Given the description of an element on the screen output the (x, y) to click on. 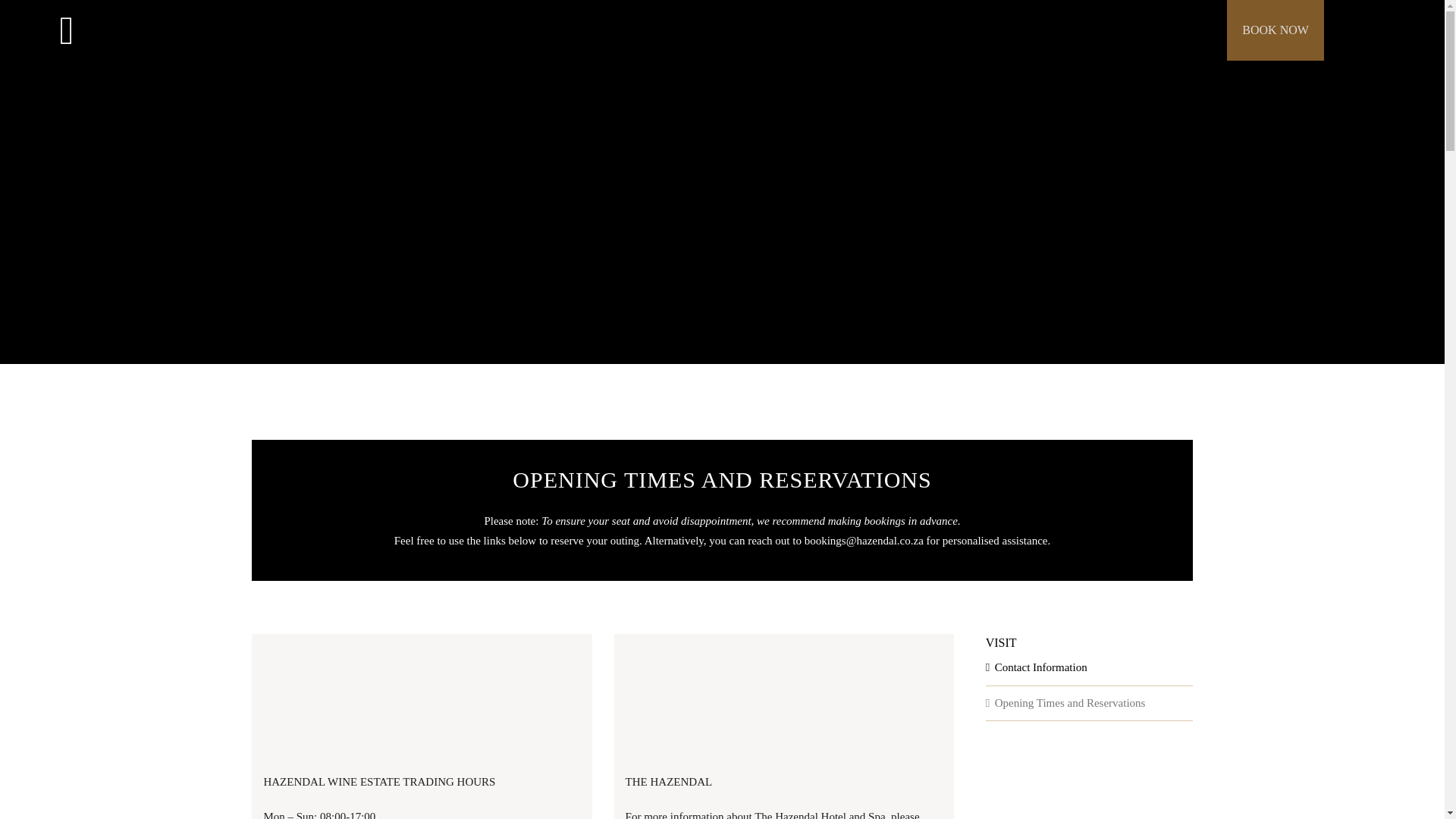
Opening Times and Reservations (1069, 702)
hazendal-general (421, 701)
BOOK NOW (1275, 30)
Contact Information (1040, 666)
